Given the description of an element on the screen output the (x, y) to click on. 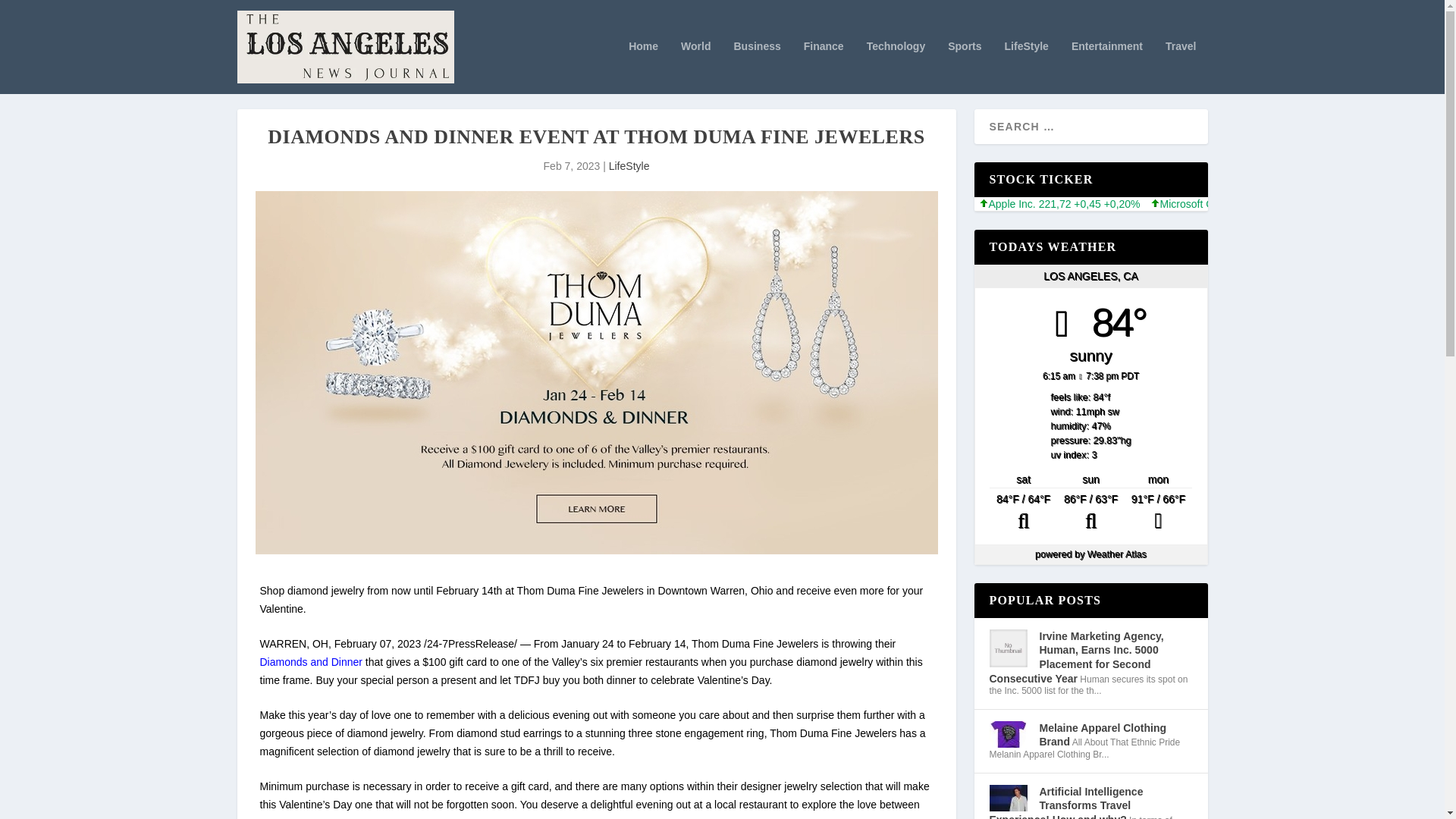
Partly Cloudy (1090, 512)
Sunny (1158, 512)
Partly Cloudy (1023, 512)
LifeStyle (628, 165)
Entertainment (1106, 67)
Diamonds and Dinner (310, 662)
Technology (896, 67)
